Given the description of an element on the screen output the (x, y) to click on. 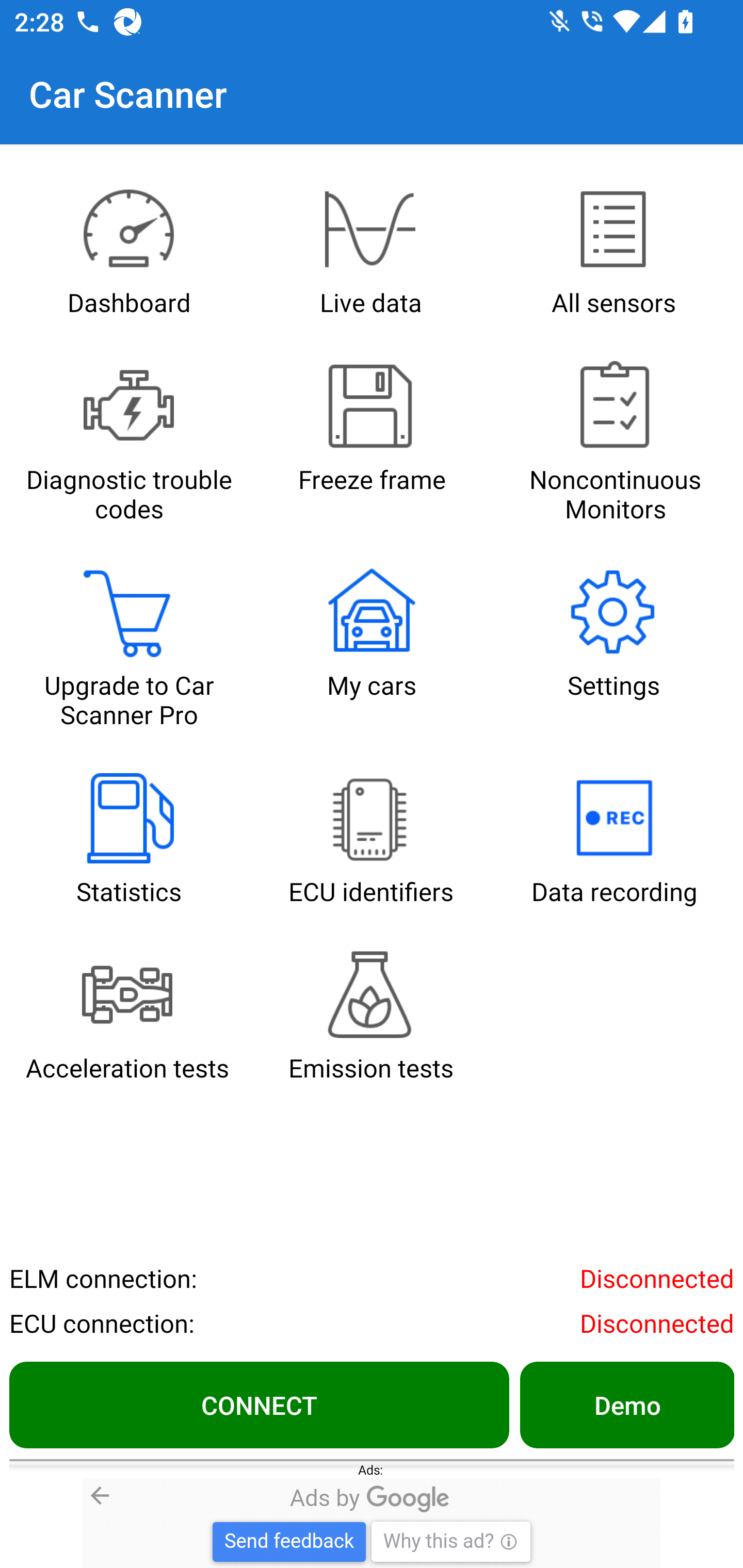
CONNECT (258, 1404)
Demo (627, 1404)
